Given the description of an element on the screen output the (x, y) to click on. 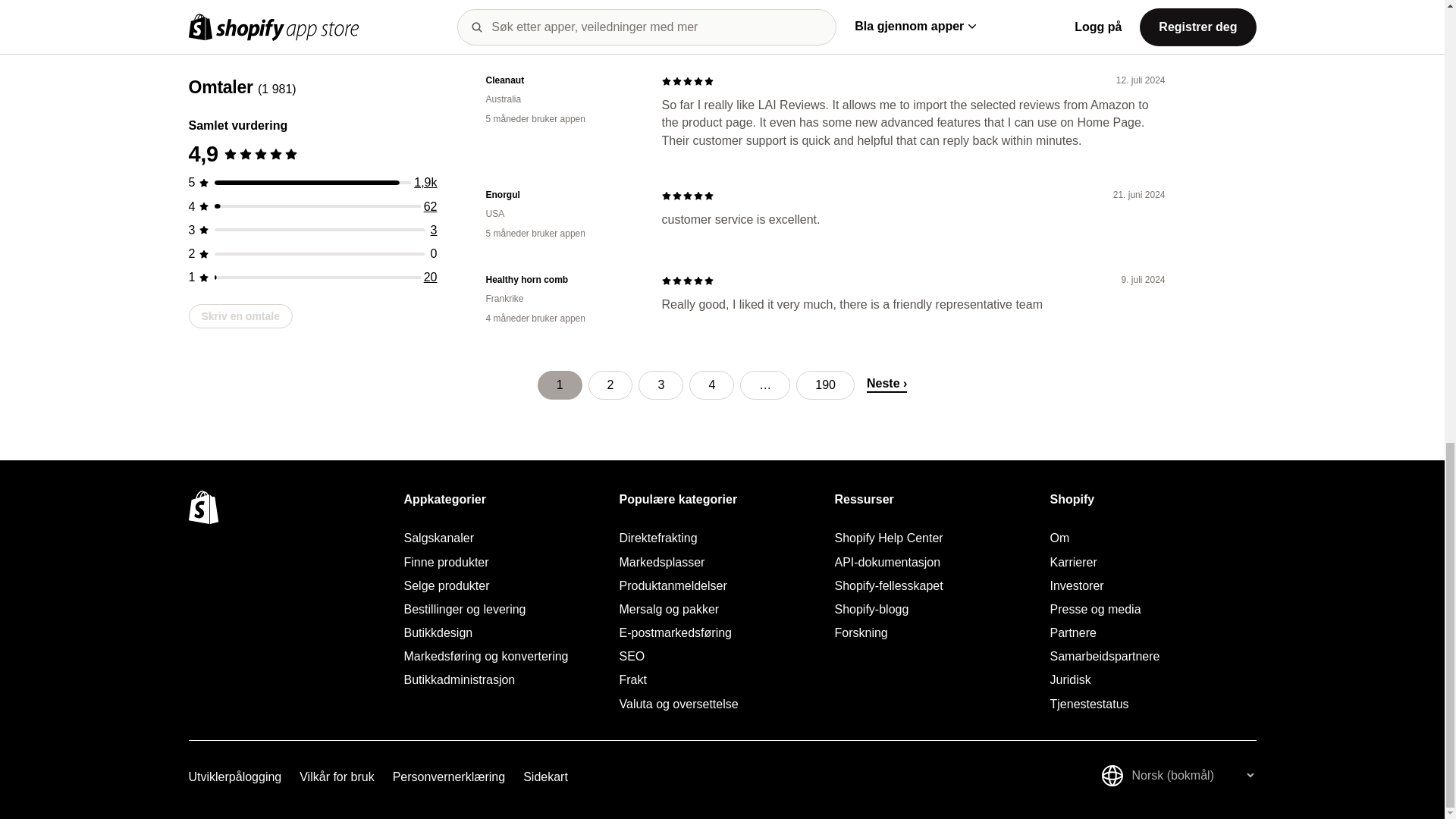
Cleanaut (560, 80)
Enorgul (560, 195)
Healthy horn comb (560, 279)
